Given the description of an element on the screen output the (x, y) to click on. 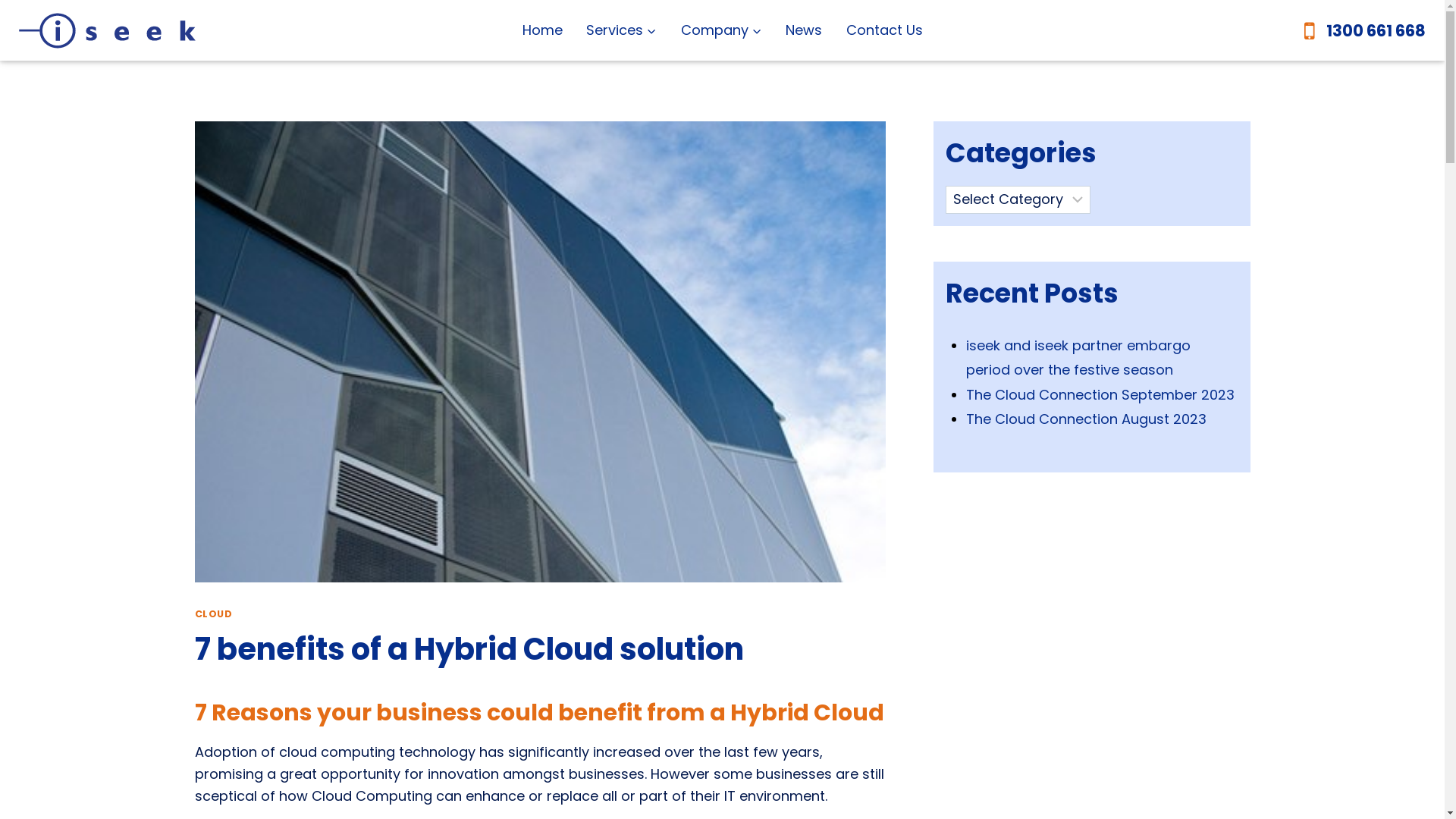
The Cloud Connection September 2023 Element type: text (1100, 394)
The Cloud Connection August 2023 Element type: text (1086, 418)
Contact Us Element type: text (884, 30)
1300 661 668 Element type: text (1361, 30)
Company Element type: text (721, 30)
CLOUD Element type: text (213, 613)
News Element type: text (803, 30)
Services Element type: text (621, 30)
Home Element type: text (542, 30)
